Given the description of an element on the screen output the (x, y) to click on. 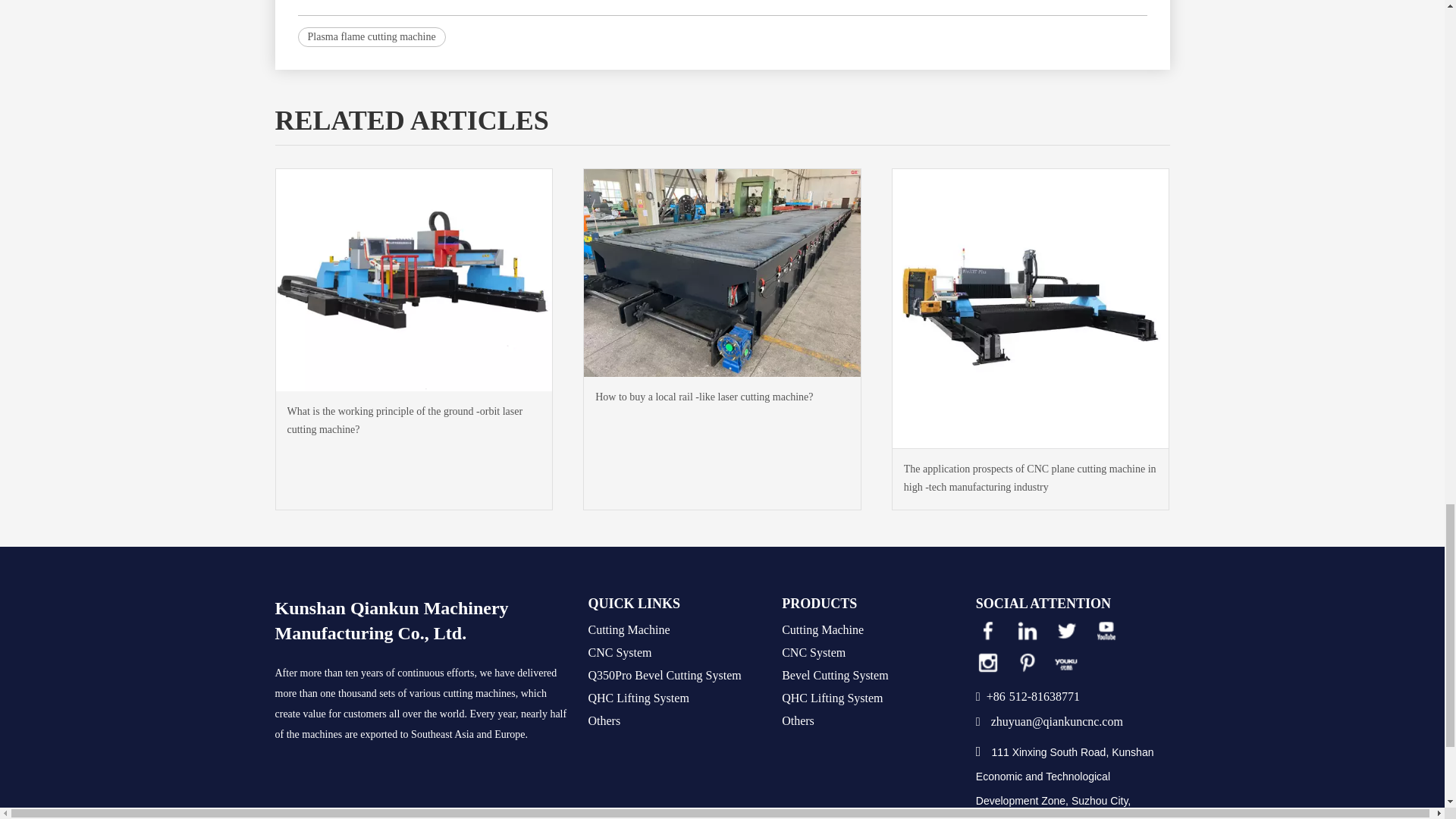
Plasma flame cutting machine (371, 36)
CNC System (620, 652)
QHC Lifting System (831, 698)
How to buy a local rail -like laser cutting machine? (721, 397)
How to buy a local rail -like laser cutting machine? (721, 271)
Plasma flame cutting machine (371, 36)
QHC Lifting System (638, 698)
Cutting Machine (628, 630)
CNC System (620, 652)
How to buy a local rail -like laser cutting machine? (721, 397)
Bevel Cutting System (834, 675)
Others (604, 721)
QHC Lifting System (638, 698)
